Given the description of an element on the screen output the (x, y) to click on. 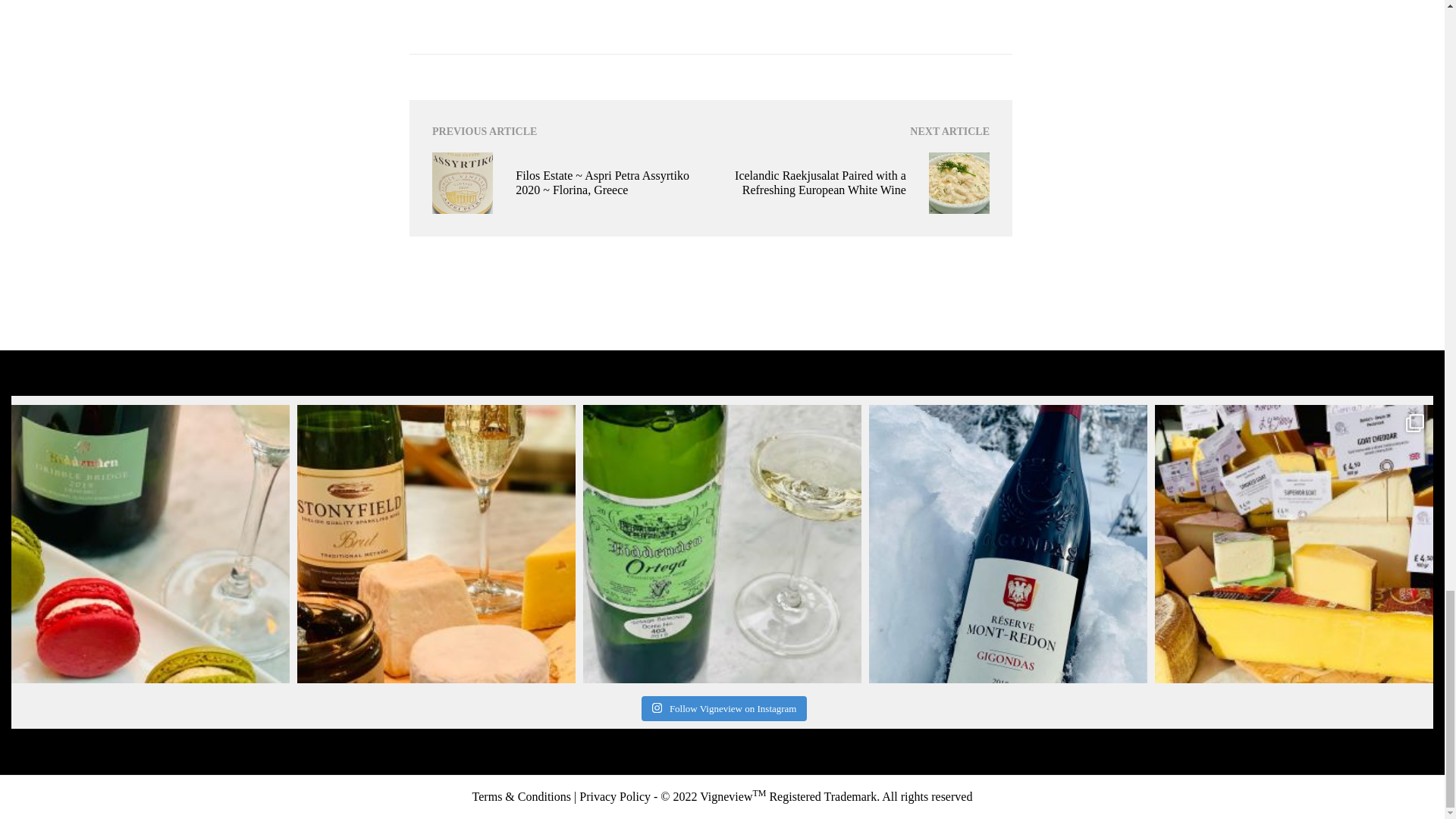
Follow Vigneview on Instagram (725, 708)
Privacy Policy (614, 796)
